Given the description of an element on the screen output the (x, y) to click on. 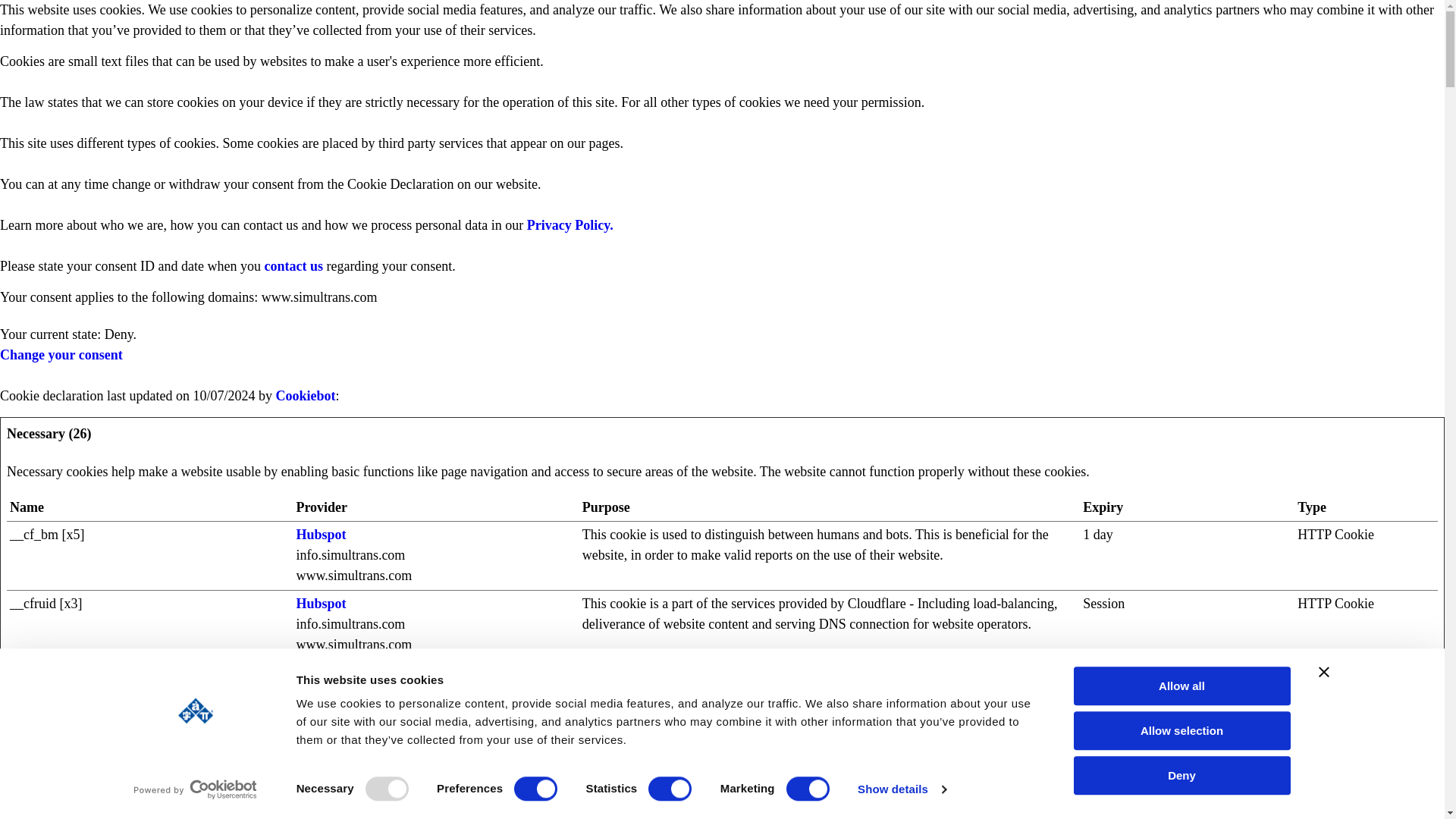
Stripe (313, 741)
Cookiebot (304, 395)
Hubspot (320, 603)
Stripe's privacy policy (313, 672)
Change your consent (61, 354)
Hubspot's privacy policy (320, 534)
Hubspot (320, 534)
Stripe's privacy policy (313, 741)
Stripe (313, 672)
Privacy Policy. (567, 224)
Jscalc.io (320, 810)
Jscalc.io's privacy policy (320, 810)
Cookiebot (304, 395)
Hubspot's privacy policy (320, 603)
contact us (293, 265)
